Given the description of an element on the screen output the (x, y) to click on. 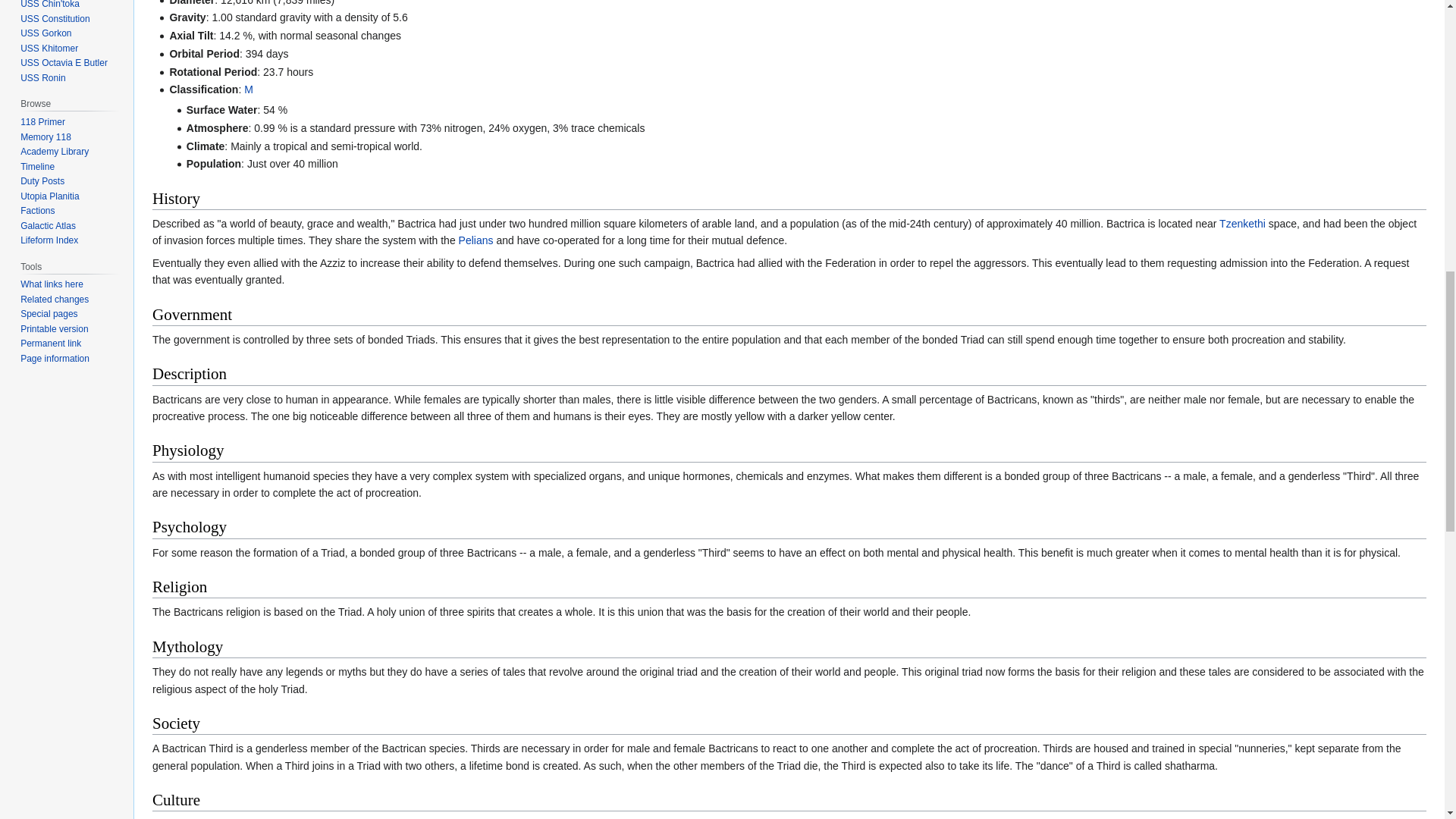
Pelian (475, 240)
Tzenkethi (1242, 223)
Tzenkethi (1242, 223)
Pelians (475, 240)
